Given the description of an element on the screen output the (x, y) to click on. 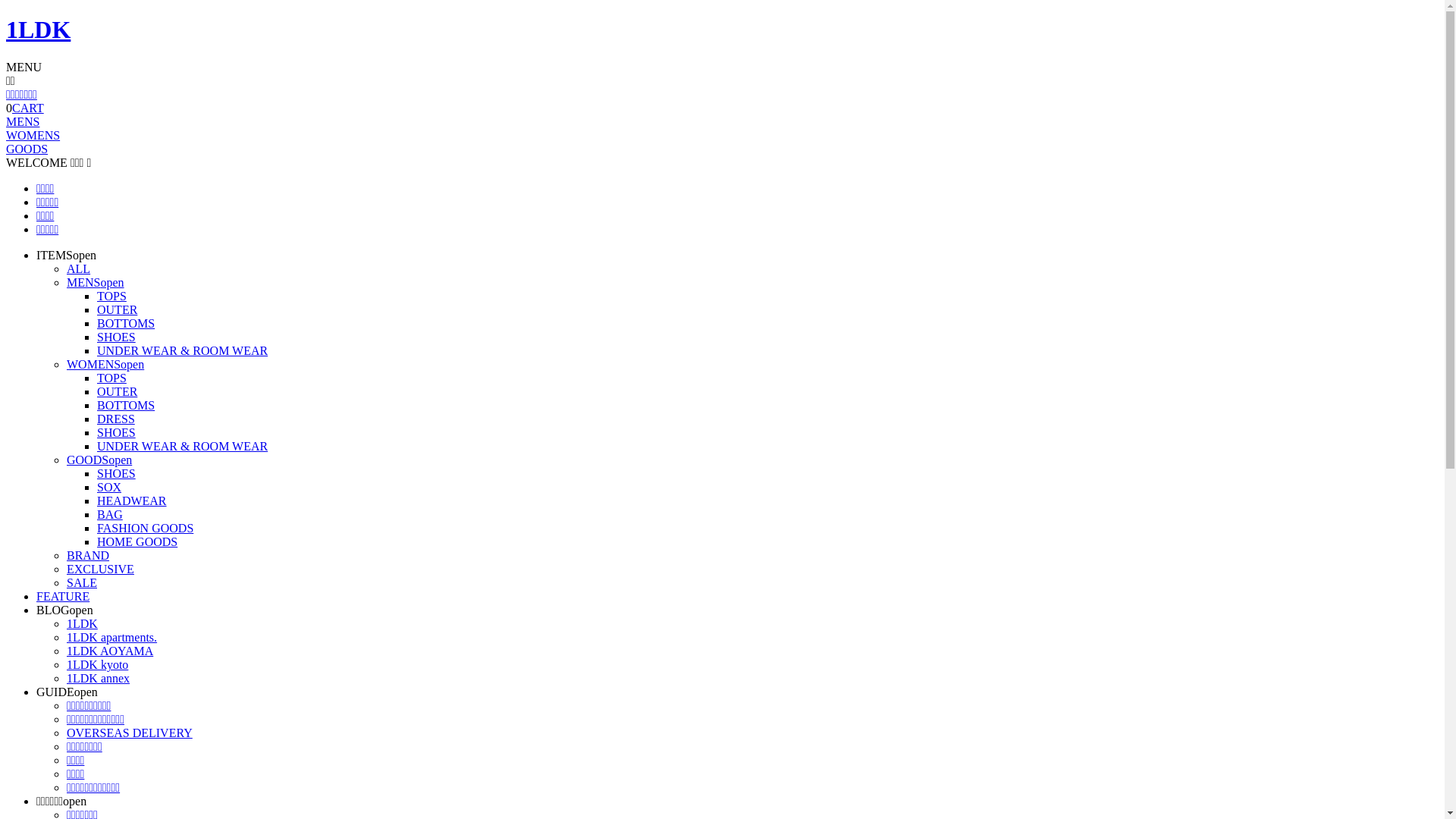
1LDK apartments. Element type: text (111, 636)
OVERSEAS DELIVERY Element type: text (129, 732)
DRESS Element type: text (115, 418)
1LDK annex Element type: text (97, 677)
SHOES Element type: text (116, 473)
BOTTOMS Element type: text (125, 322)
WOMENS Element type: text (32, 134)
SHOES Element type: text (116, 336)
BOTTOMS Element type: text (125, 404)
GOODS Element type: text (26, 148)
HOME GOODS Element type: text (137, 541)
MENS Element type: text (22, 121)
FASHION GOODS Element type: text (145, 527)
OUTER Element type: text (117, 309)
1LDK Element type: text (38, 29)
MENSopen Element type: text (95, 282)
EXCLUSIVE Element type: text (100, 568)
TOPS Element type: text (111, 377)
CART Element type: text (27, 107)
OUTER Element type: text (117, 391)
GOODSopen Element type: text (98, 459)
SHOES Element type: text (116, 432)
1LDK AOYAMA Element type: text (109, 650)
WOMENSopen Element type: text (105, 363)
ALL Element type: text (78, 268)
BAG Element type: text (109, 514)
FEATURE Element type: text (62, 595)
TOPS Element type: text (111, 295)
HEADWEAR Element type: text (131, 500)
UNDER WEAR & ROOM WEAR Element type: text (182, 445)
BRAND Element type: text (87, 555)
1LDK Element type: text (81, 623)
1LDK kyoto Element type: text (97, 664)
UNDER WEAR & ROOM WEAR Element type: text (182, 350)
SALE Element type: text (81, 582)
SOX Element type: text (109, 486)
